Given the description of an element on the screen output the (x, y) to click on. 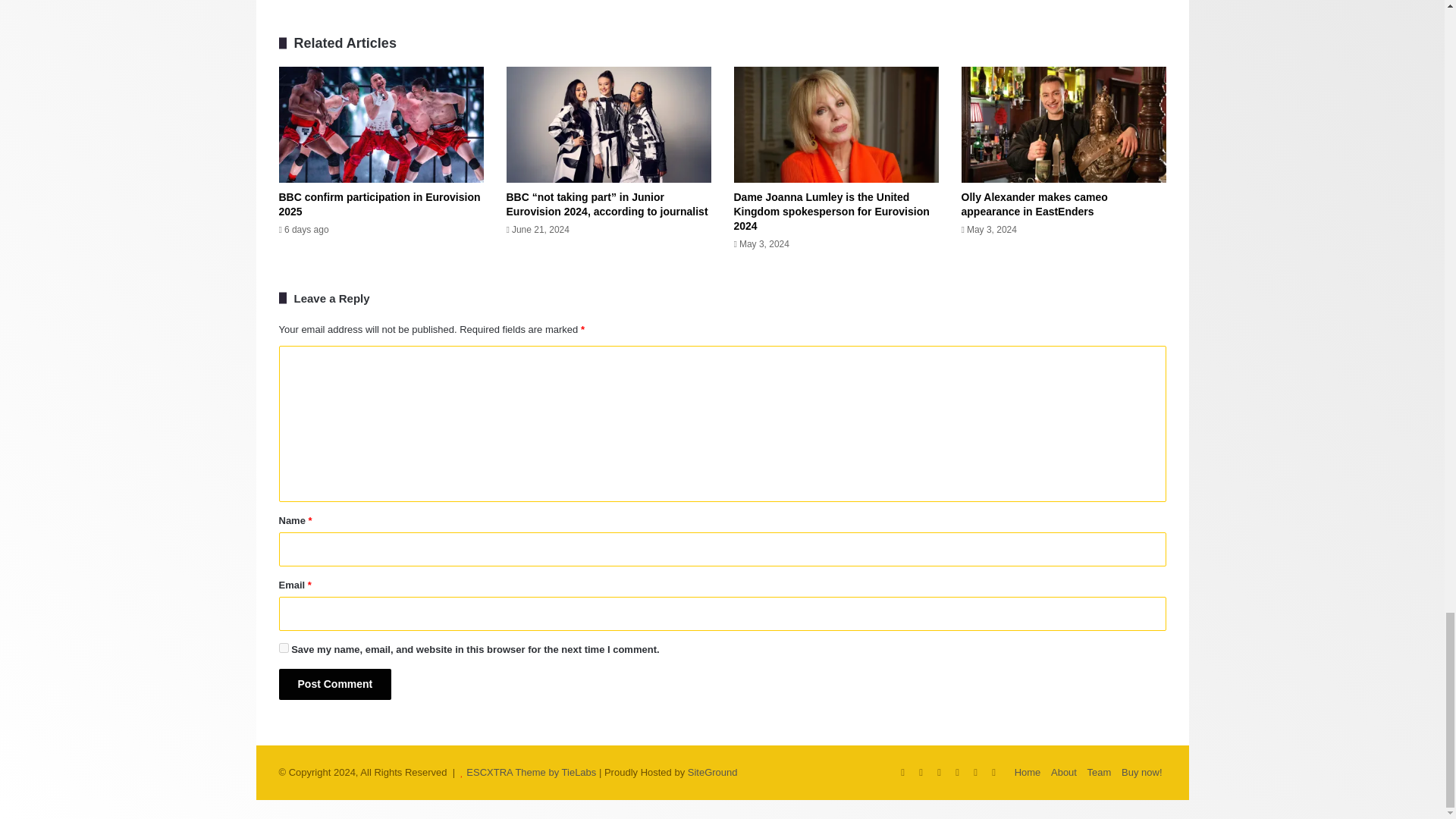
yes (283, 647)
Post Comment (335, 684)
